Given the description of an element on the screen output the (x, y) to click on. 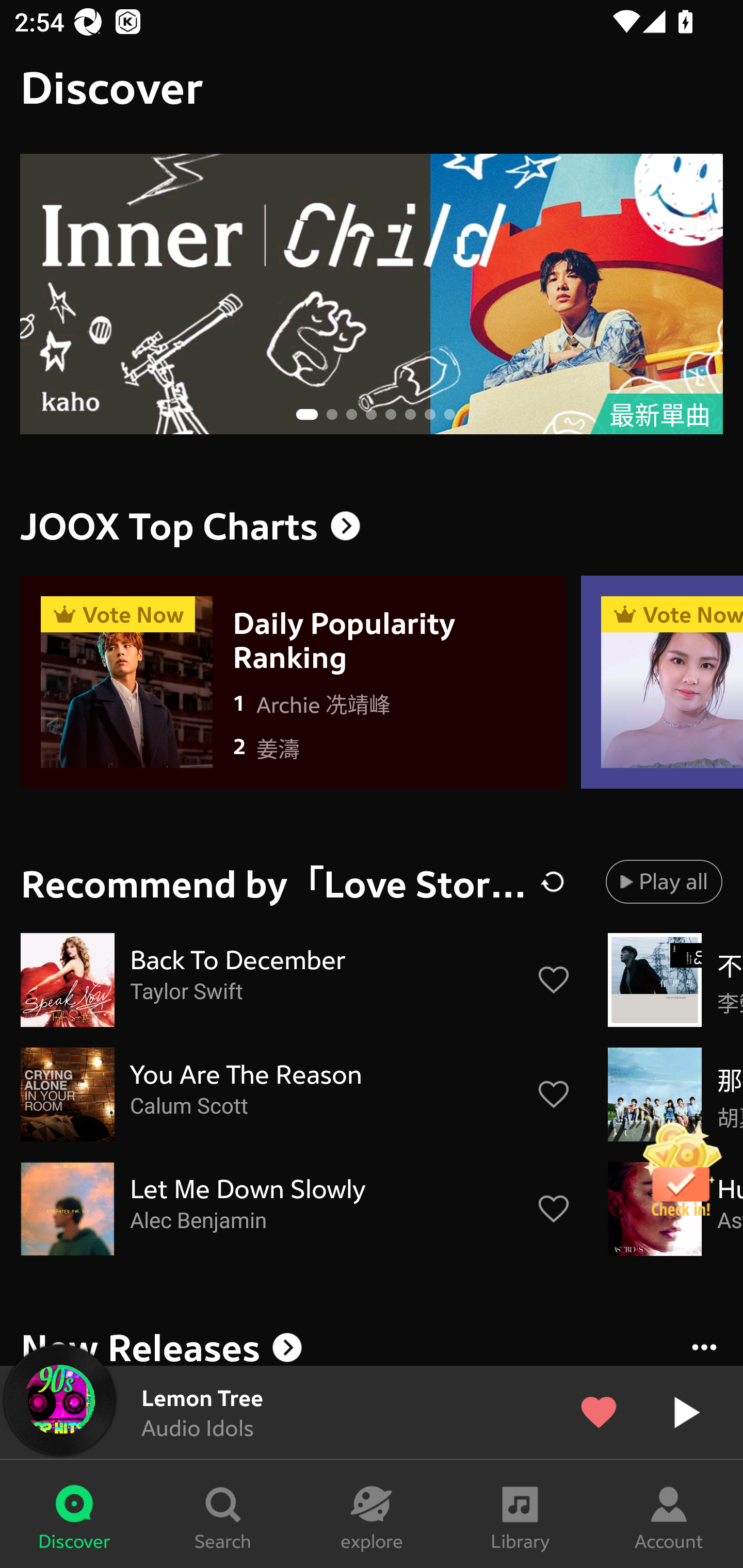
最新單曲   (371, 293)
JOOX Top Charts (371, 525)
Play all (663, 881)
Back To December Taylor Swift (295, 979)
You Are The Reason Calum Scott (295, 1094)
Let Me Down Slowly Alec Benjamin (295, 1208)
New Releases (371, 1344)
Lemon Tree Audio Idols (371, 1412)
Search (222, 1513)
explore (371, 1513)
Library (519, 1513)
Account (668, 1513)
